Given the description of an element on the screen output the (x, y) to click on. 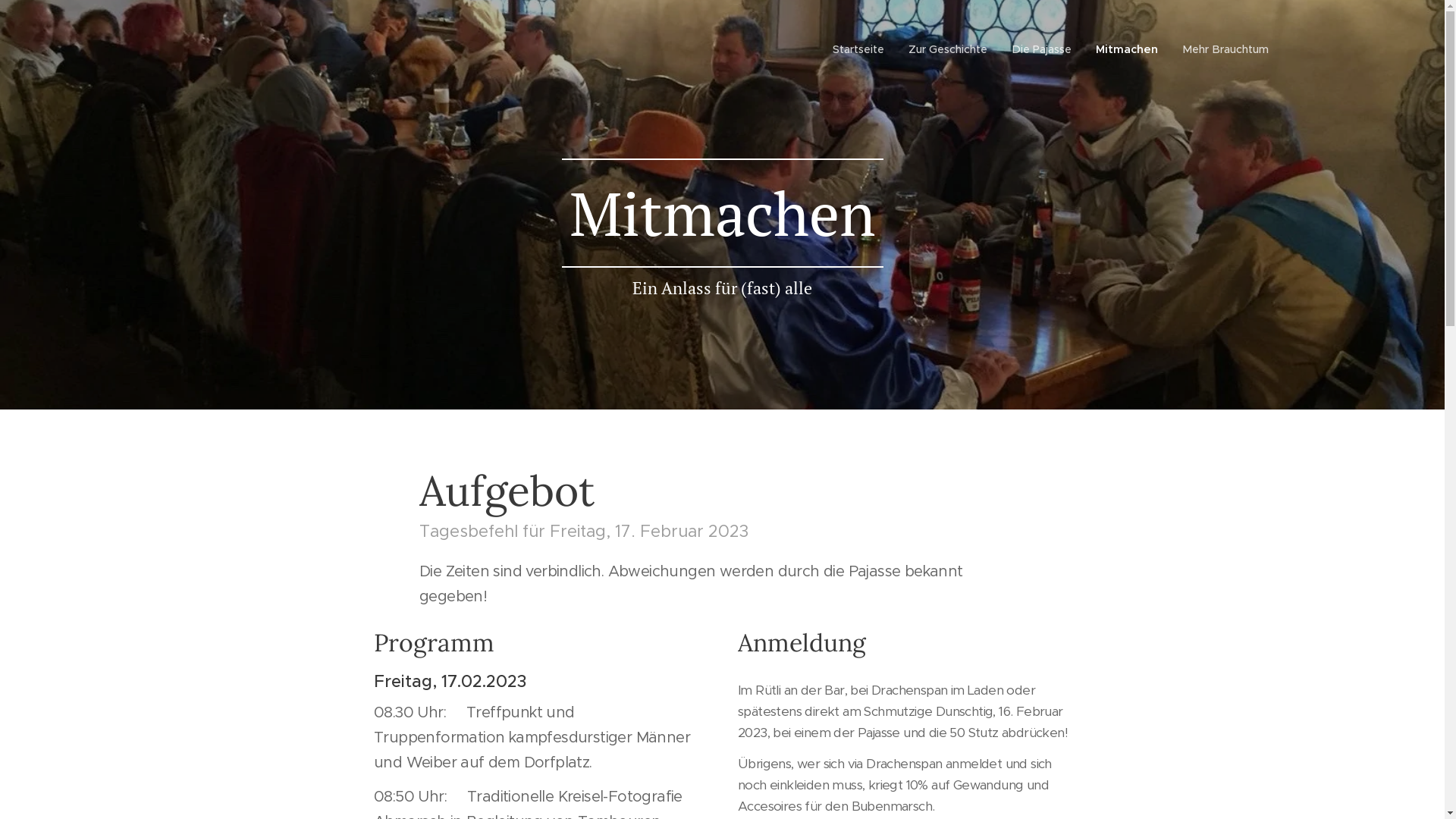
Mehr Brauchtum Element type: text (1218, 49)
Die Pajasse Element type: text (1041, 49)
Zur Geschichte Element type: text (947, 49)
Startseite Element type: text (861, 49)
Mitmachen Element type: text (1125, 49)
